Given the description of an element on the screen output the (x, y) to click on. 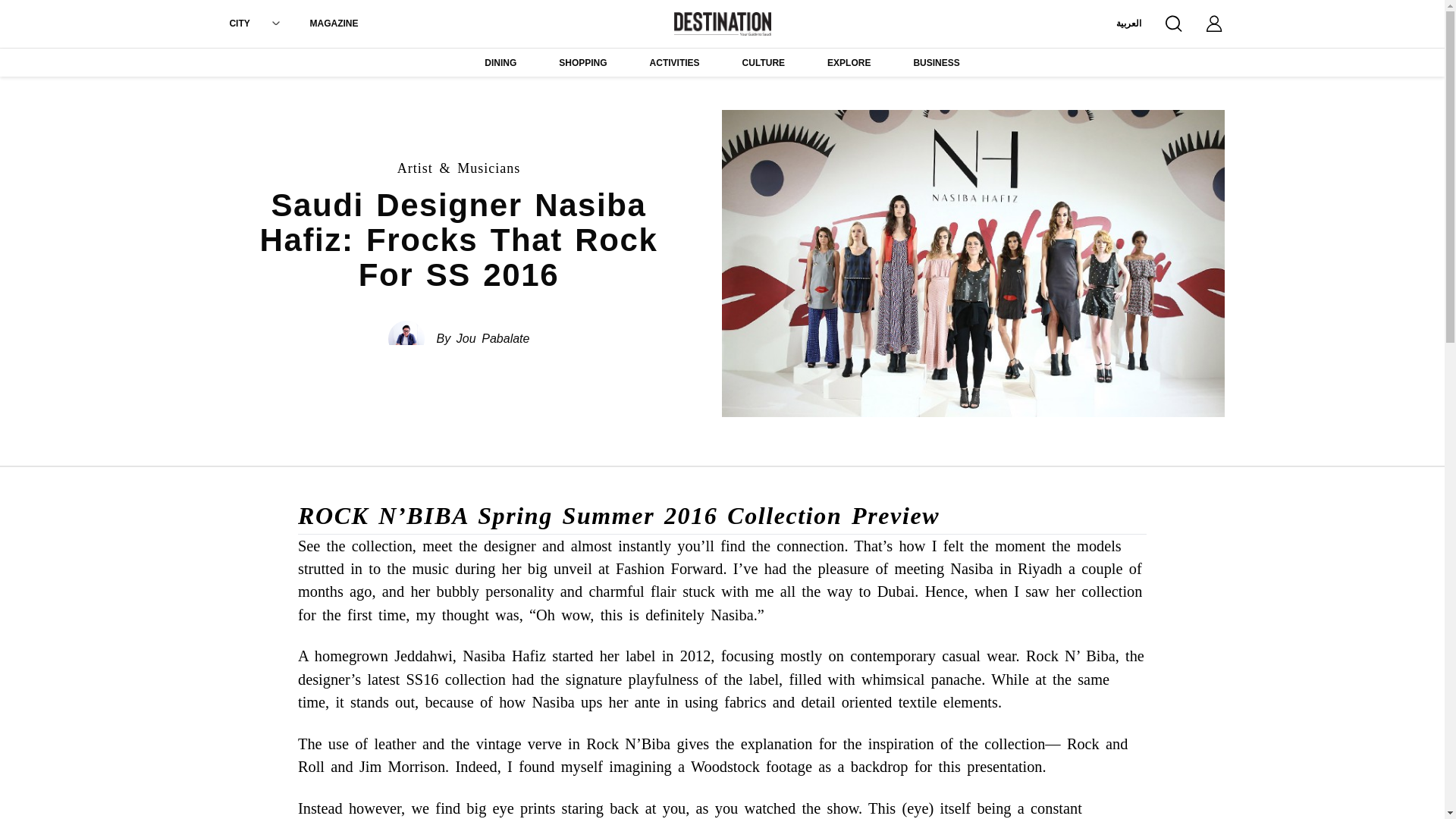
ACTIVITIES (674, 64)
MAGAZINE (333, 23)
DINING (500, 64)
SHOPPING (583, 64)
EXPLORE (848, 64)
CULTURE (763, 64)
BUSINESS (935, 64)
By Jou Pabalate (482, 339)
